Given the description of an element on the screen output the (x, y) to click on. 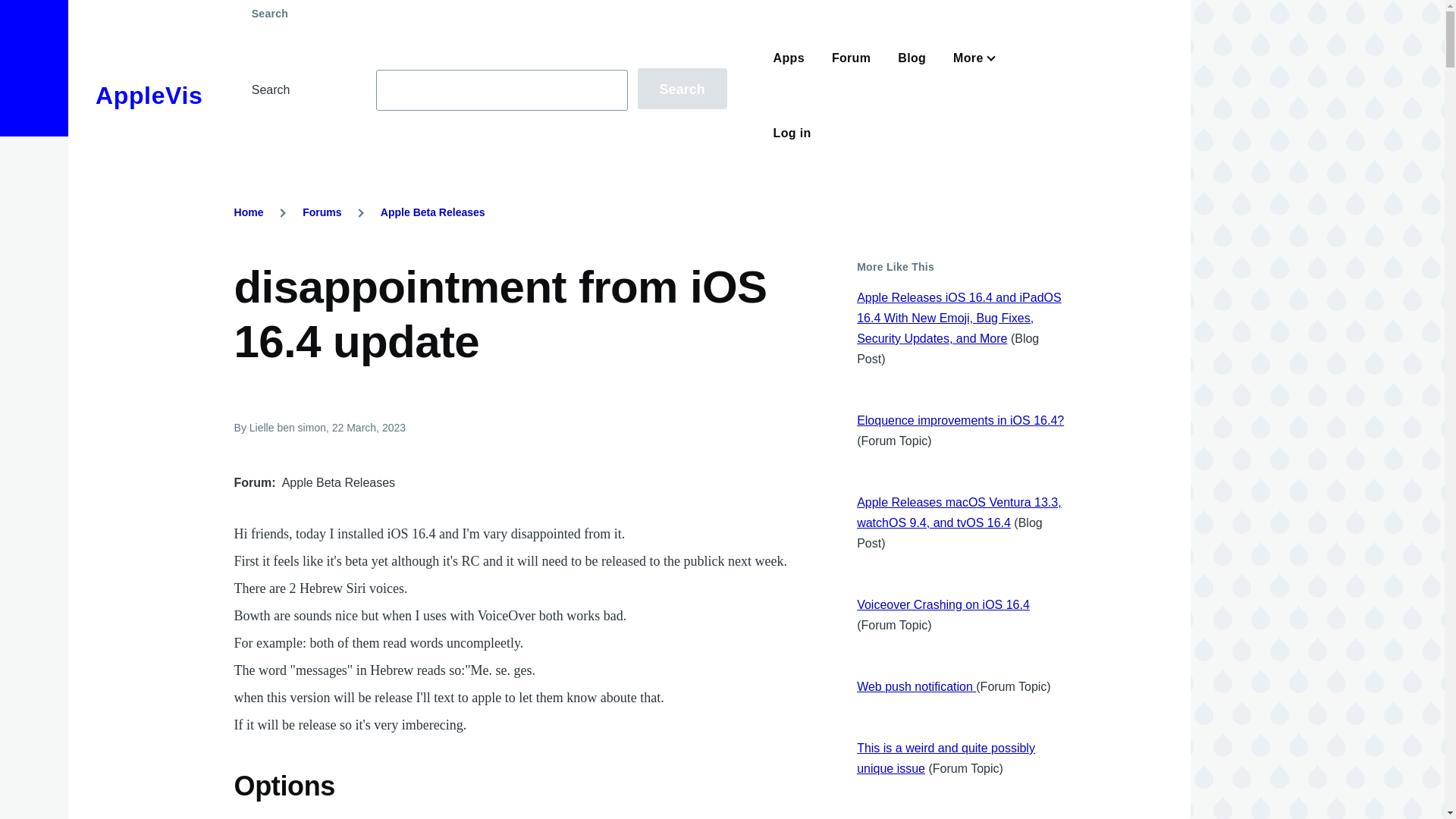
Forums (321, 212)
Apple Beta Releases (432, 212)
AppleVis (149, 94)
Home (248, 212)
Search (681, 87)
Skip to main content (595, 6)
Search (681, 87)
Home (149, 94)
